Given the description of an element on the screen output the (x, y) to click on. 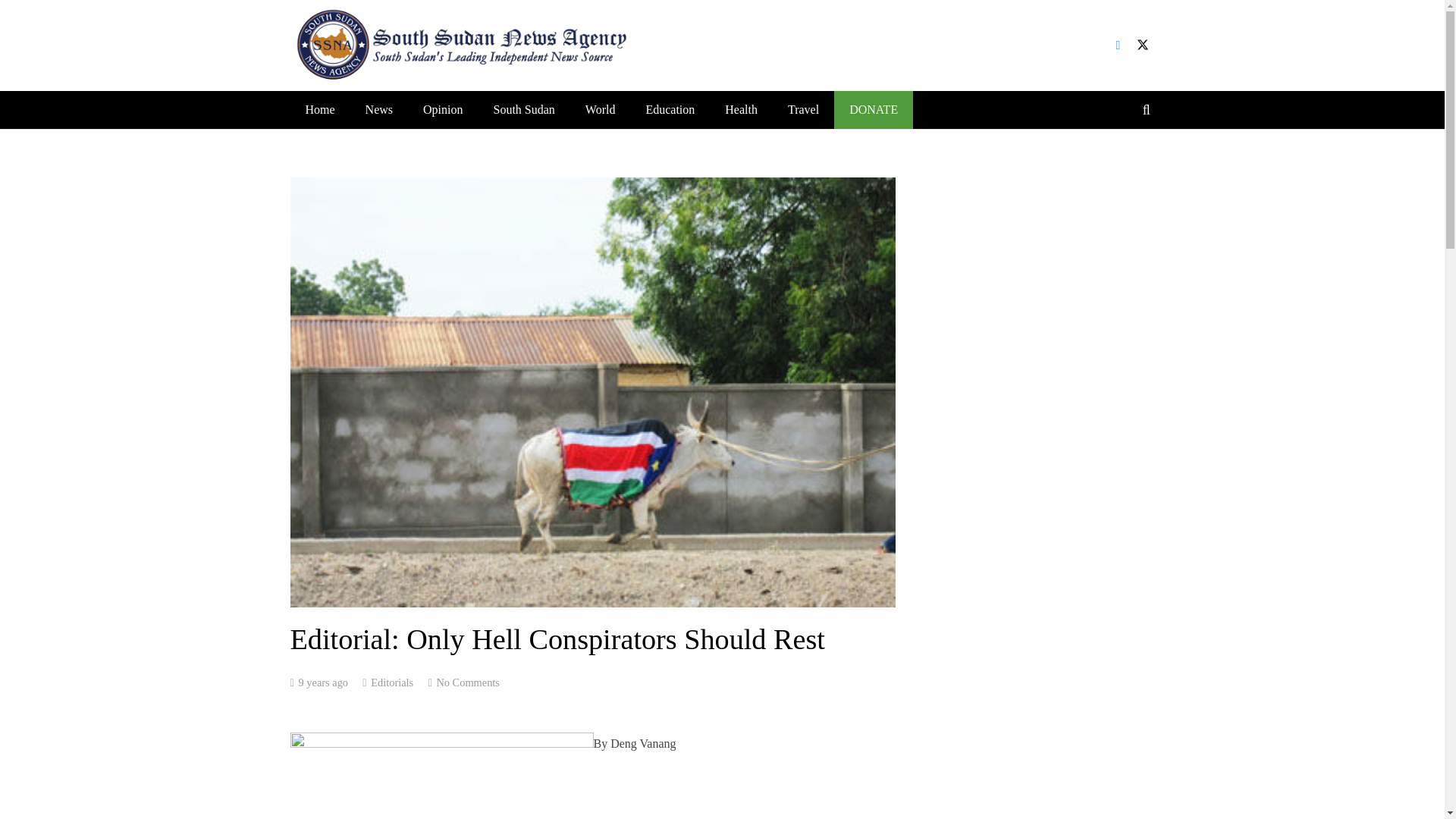
News (378, 109)
Travel (803, 109)
Home (319, 109)
Facebook (1117, 45)
Education (670, 109)
South Sudan (523, 109)
Editorials (392, 682)
No Comments (467, 682)
Opinion (442, 109)
DONATE (873, 109)
No Comments (467, 682)
Health (741, 109)
Twitter (1141, 45)
World (600, 109)
